Given the description of an element on the screen output the (x, y) to click on. 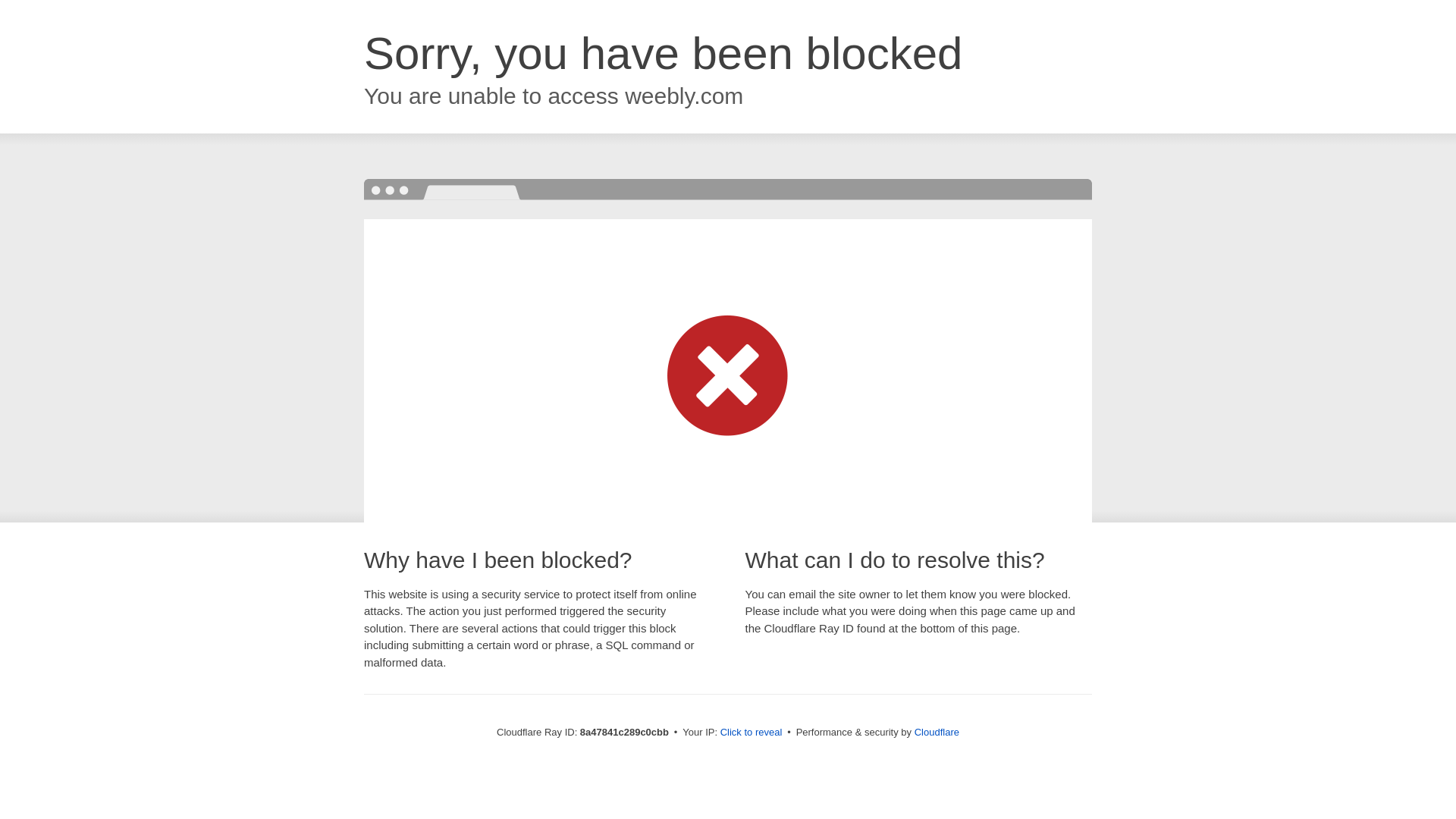
Click to reveal (751, 732)
Cloudflare (936, 731)
